Given the description of an element on the screen output the (x, y) to click on. 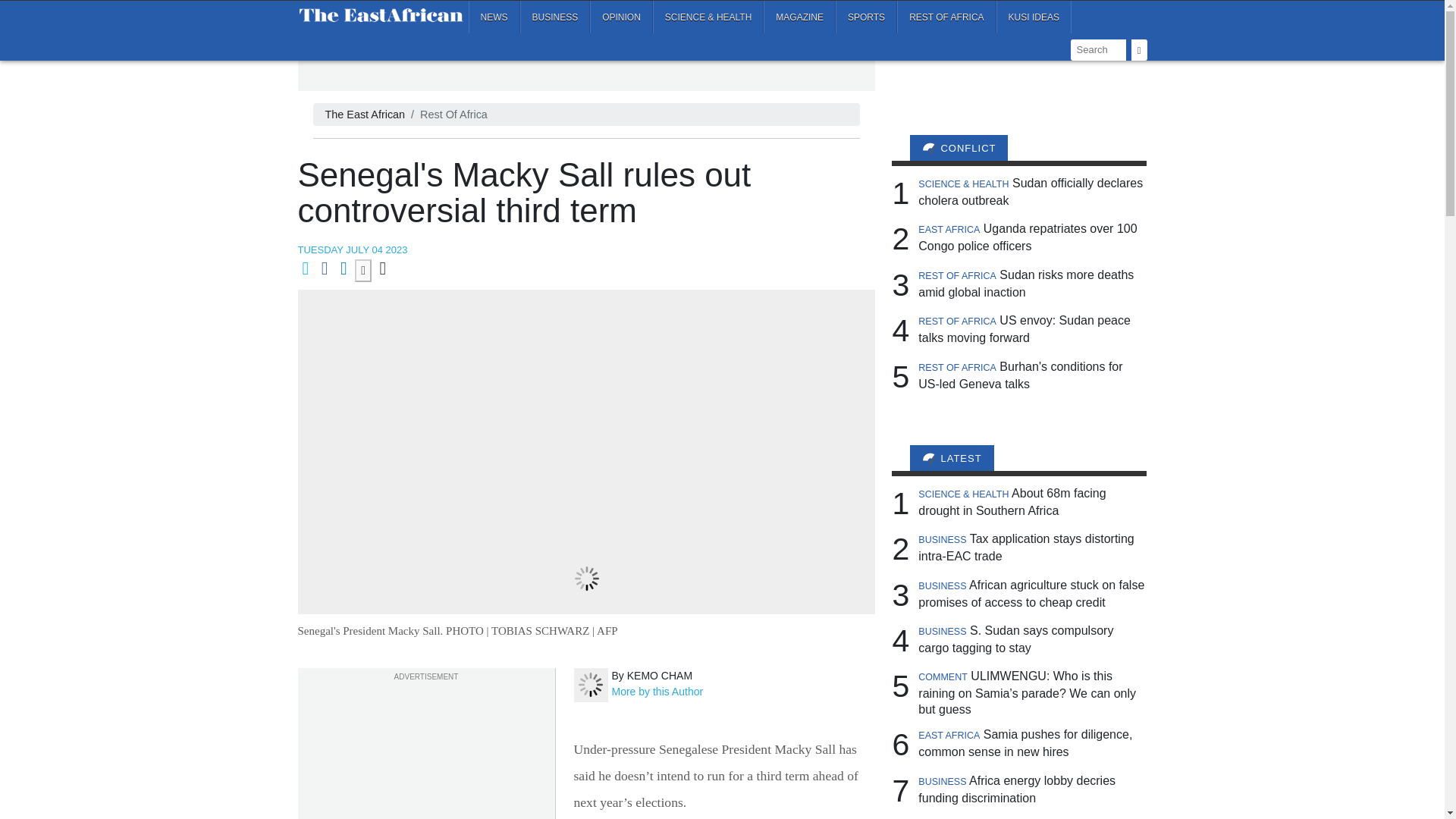
SPORTS (865, 16)
NEWS (493, 16)
MAGAZINE (798, 16)
OPINION (620, 16)
BUSINESS (555, 16)
